Given the description of an element on the screen output the (x, y) to click on. 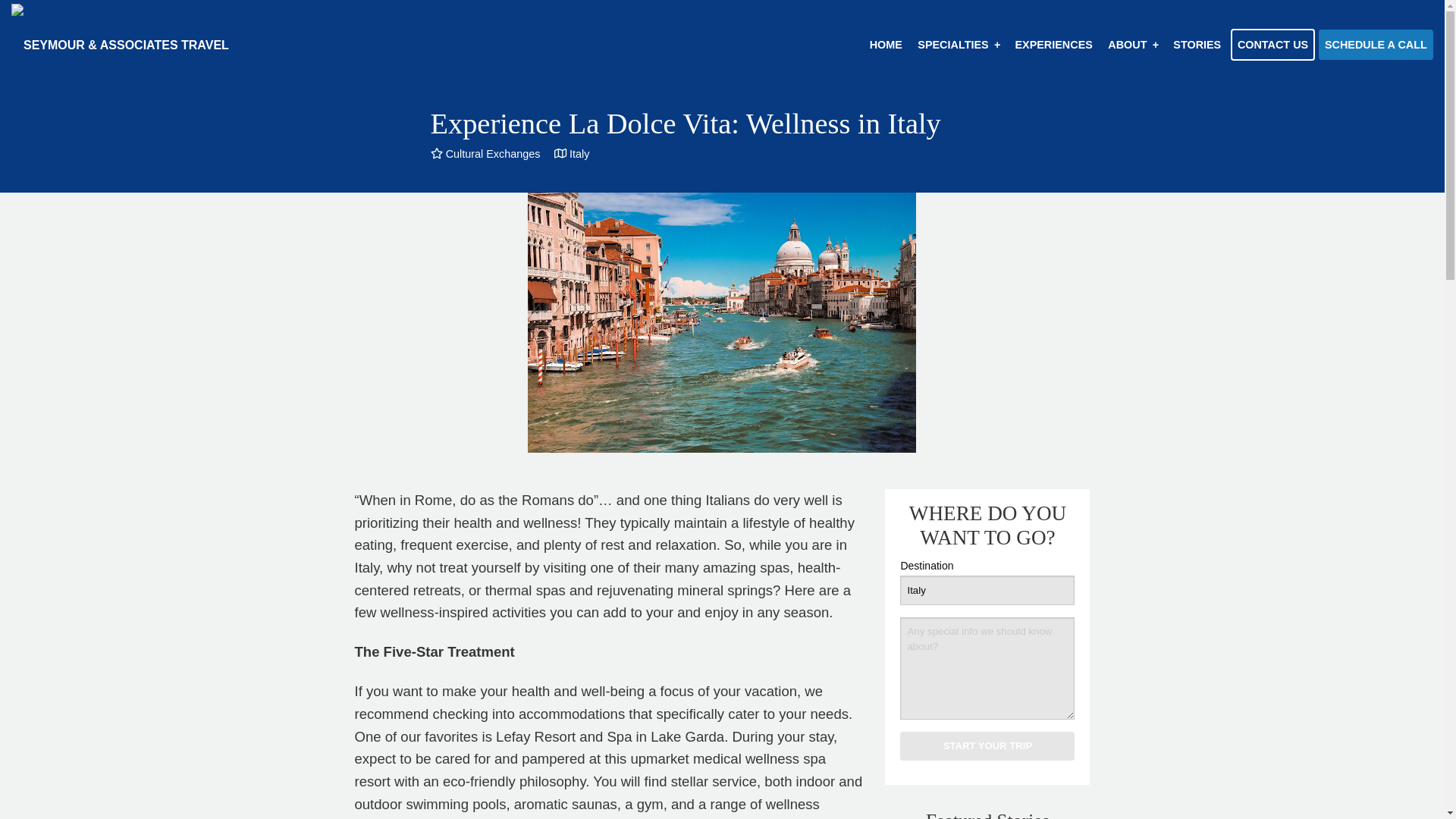
CONTACT US (1273, 43)
Start Your Trip (986, 746)
Italy (986, 590)
EXPERIENCES (1053, 44)
SPECIALTIES (958, 44)
Start Your Trip (986, 746)
SCHEDULE A CALL (1375, 43)
